Given the description of an element on the screen output the (x, y) to click on. 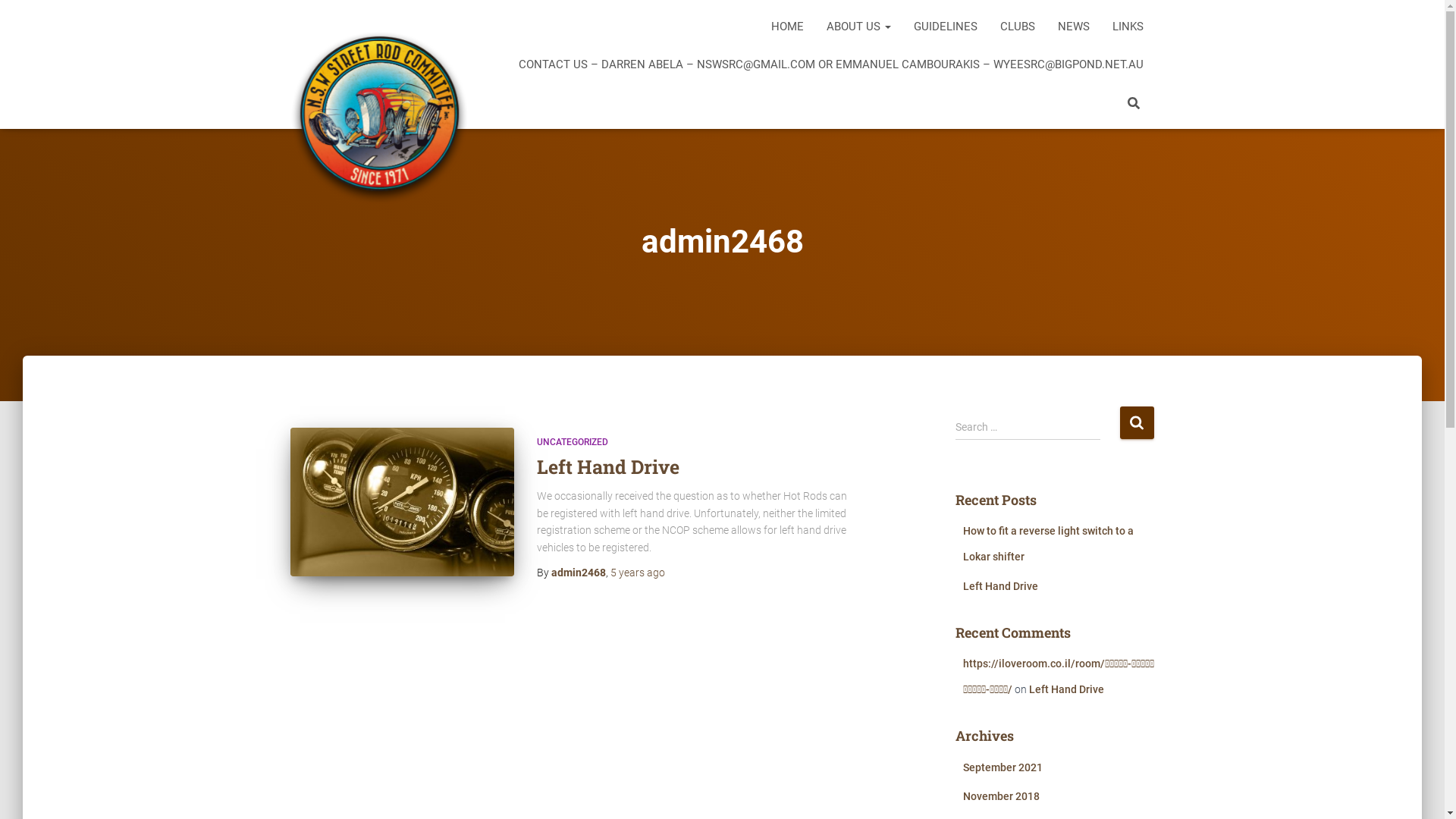
5 years ago Element type: text (636, 572)
HOME Element type: text (787, 26)
CLUBS Element type: text (1017, 26)
Search Element type: text (1136, 422)
LINKS Element type: text (1127, 26)
ABOUT US Element type: text (857, 26)
Left Hand Drive Element type: text (1066, 689)
NSW Street Rod Committee Element type: hover (379, 64)
Left Hand Drive Element type: text (1000, 585)
GUIDELINES Element type: text (945, 26)
UNCATEGORIZED Element type: text (572, 441)
How to fit a reverse light switch to a Lokar shifter Element type: text (1048, 543)
Search Element type: text (3, 16)
Left Hand Drive Element type: hover (401, 502)
admin2468 Element type: text (577, 572)
September 2021 Element type: text (1002, 767)
November 2018 Element type: text (1001, 796)
NEWS Element type: text (1073, 26)
Left Hand Drive Element type: text (607, 466)
